Given the description of an element on the screen output the (x, y) to click on. 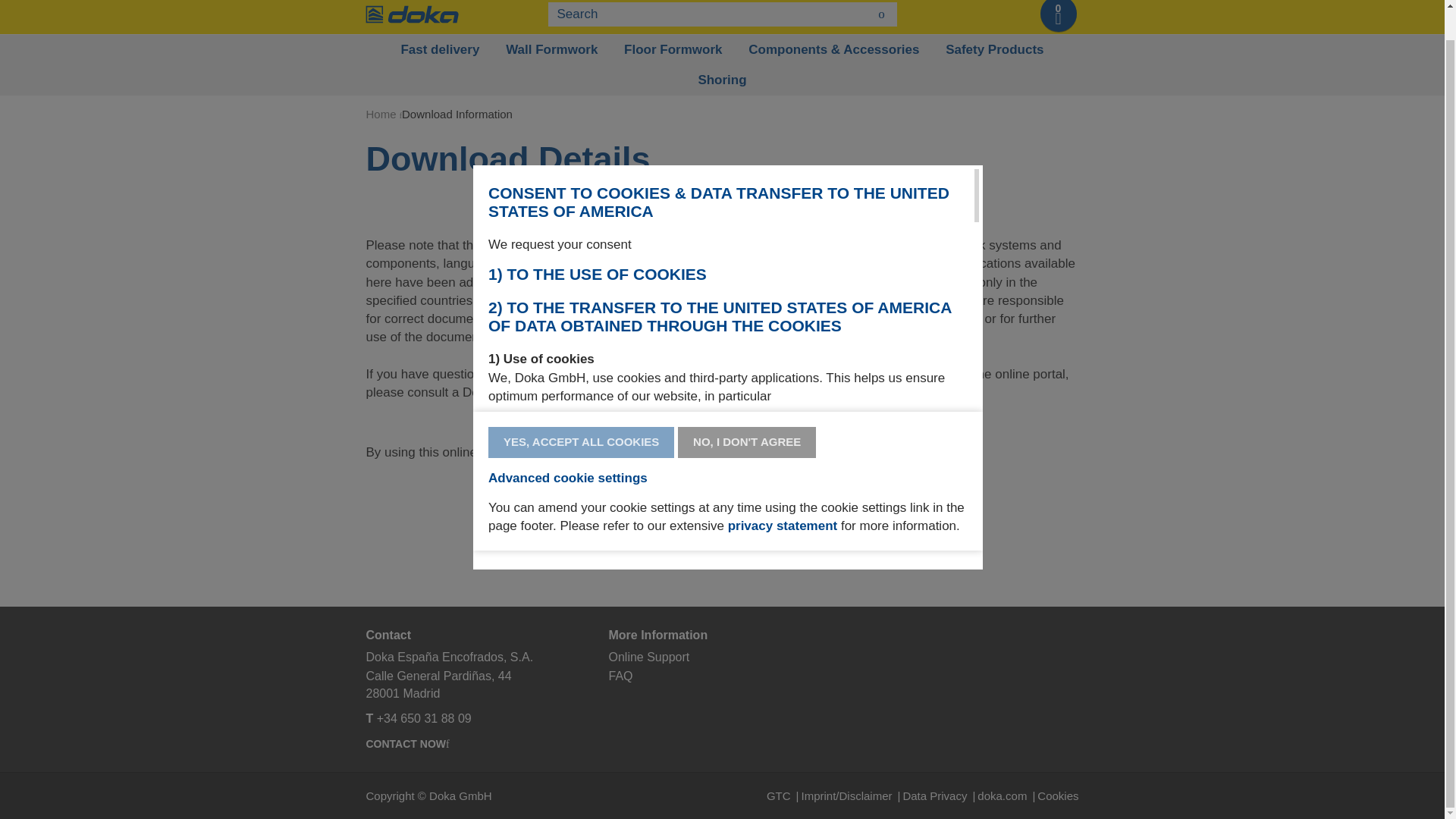
No, I don't agree (746, 441)
doka.com (1006, 795)
Online Support (648, 656)
FAQ (619, 675)
Yes, accept all cookies (580, 441)
GTC (784, 795)
Data Privacy (939, 795)
